Given the description of an element on the screen output the (x, y) to click on. 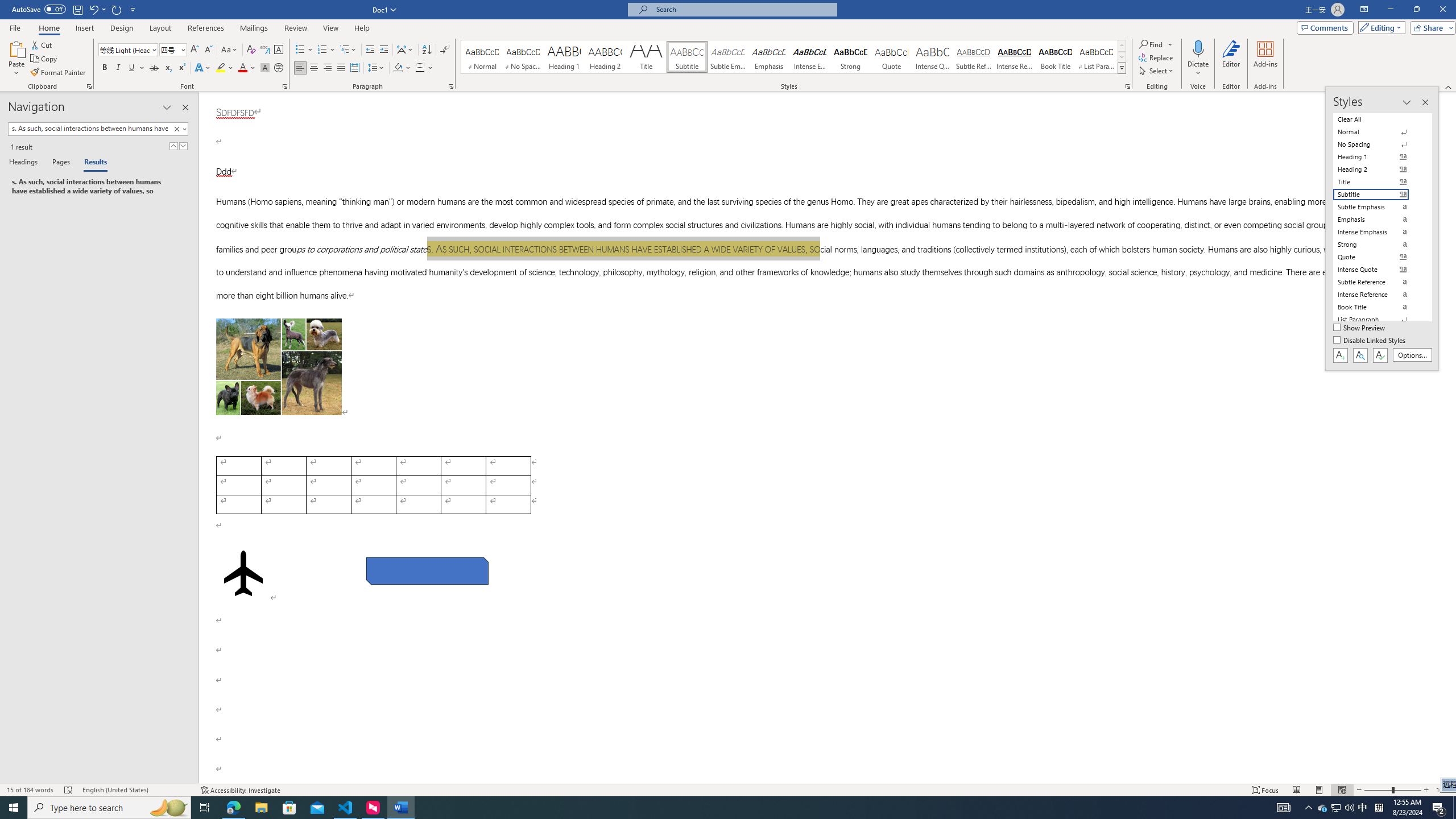
Font (128, 49)
Strikethrough (154, 67)
Office Clipboard... (88, 85)
Quote (891, 56)
Editor (1231, 58)
Increase Indent (383, 49)
Options... (1412, 354)
Headings (25, 162)
Align Right (327, 67)
Numbering (322, 49)
Find (1151, 44)
Text Highlight Color Yellow (220, 67)
Text Highlight Color (224, 67)
Clear Formatting (250, 49)
Font (124, 49)
